Given the description of an element on the screen output the (x, y) to click on. 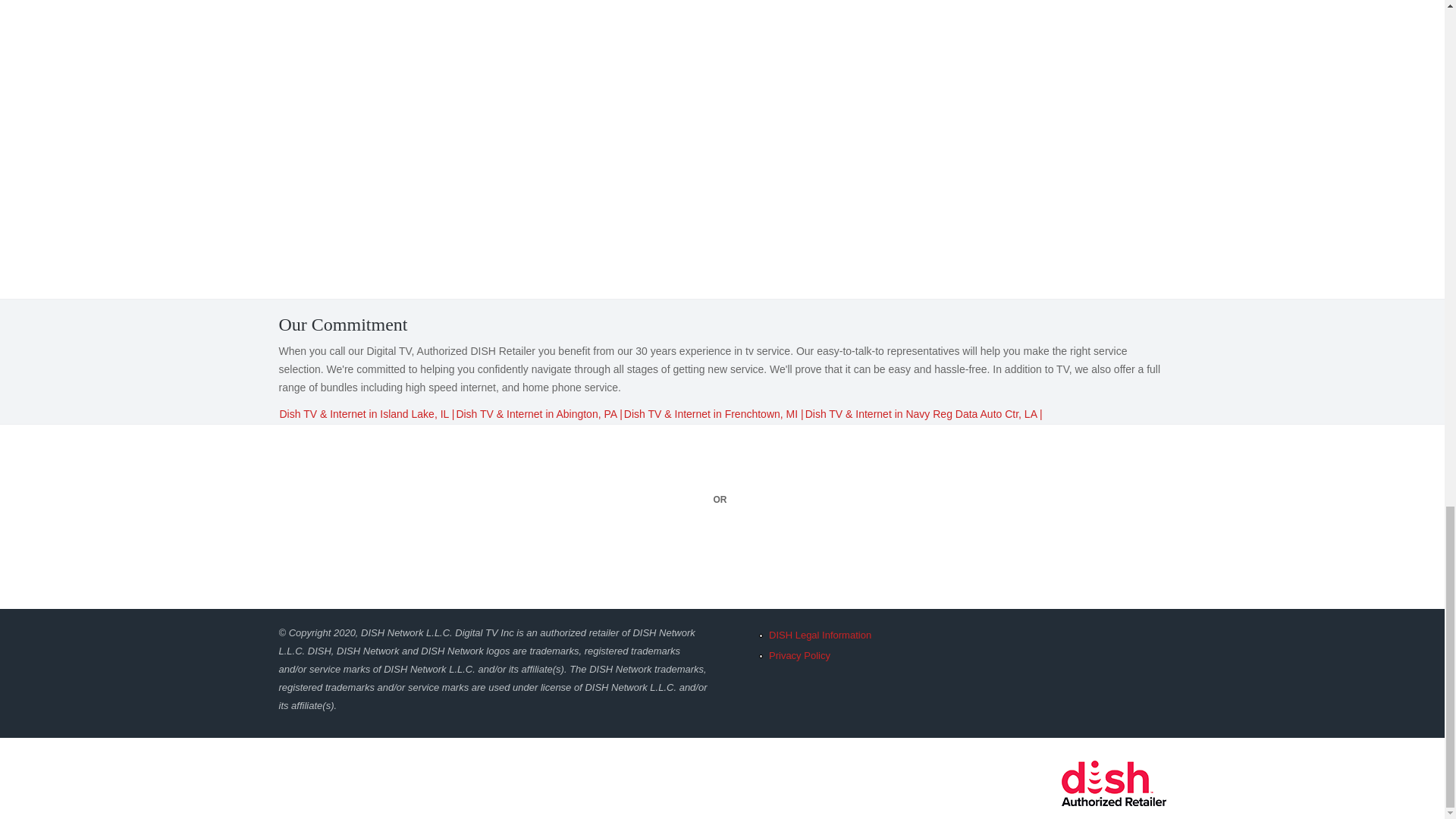
DISH Legal Information (819, 634)
Privacy Policy (798, 655)
